Given the description of an element on the screen output the (x, y) to click on. 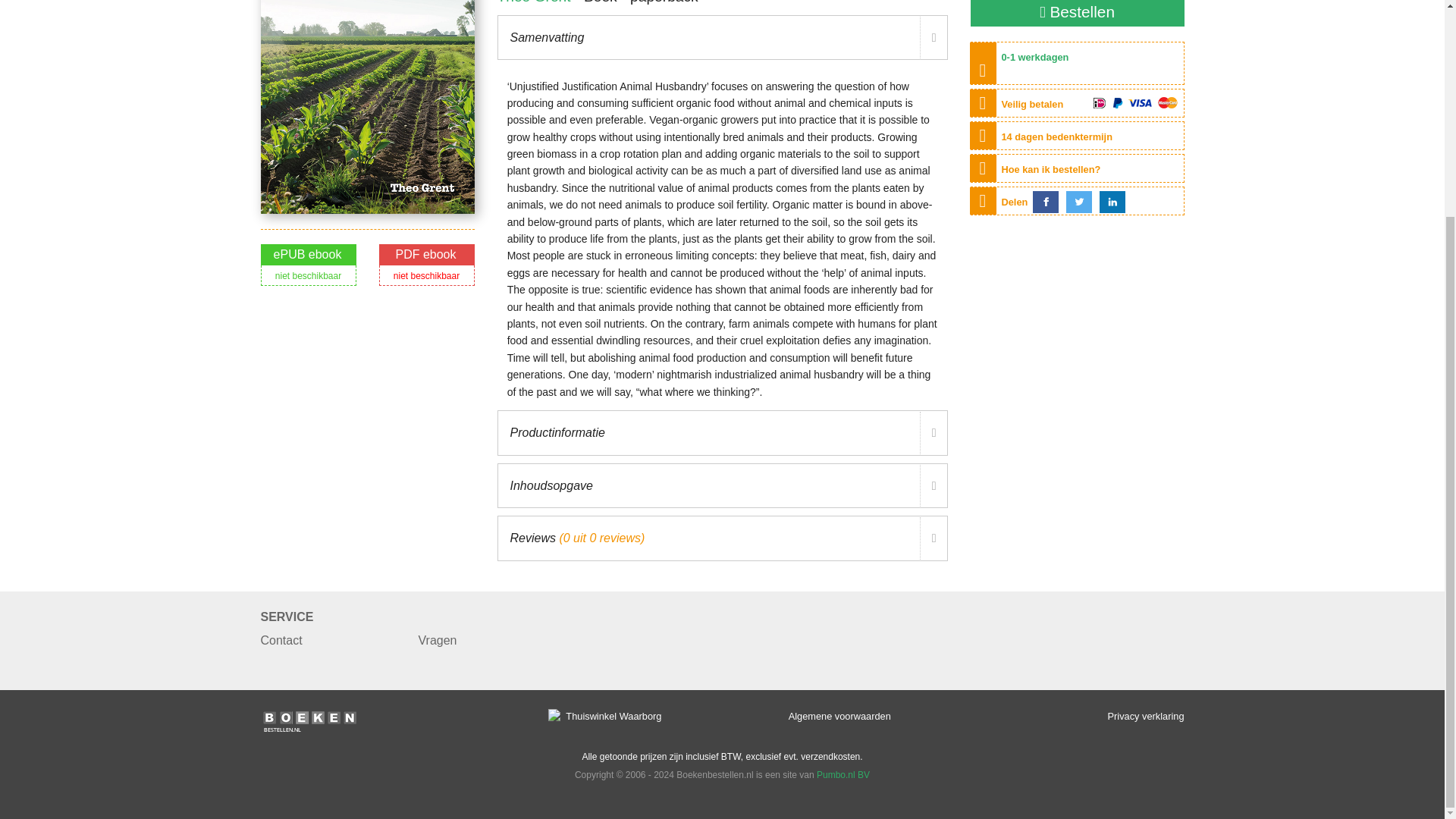
Inhoudsopgave (722, 485)
Theo Grent (533, 2)
Bestellen (1078, 13)
Productinformatie (722, 432)
Hoe kan ik bestellen? (1050, 169)
meer boeken van Theo Grent (533, 2)
Samenvatting (722, 37)
Thuiswinkel Certificaat (604, 715)
Je eigen boek uitgeven of drukken met Pumbo.nl (842, 774)
Boek cover Unjustified Justification Animal Husbandry (367, 106)
